Given the description of an element on the screen output the (x, y) to click on. 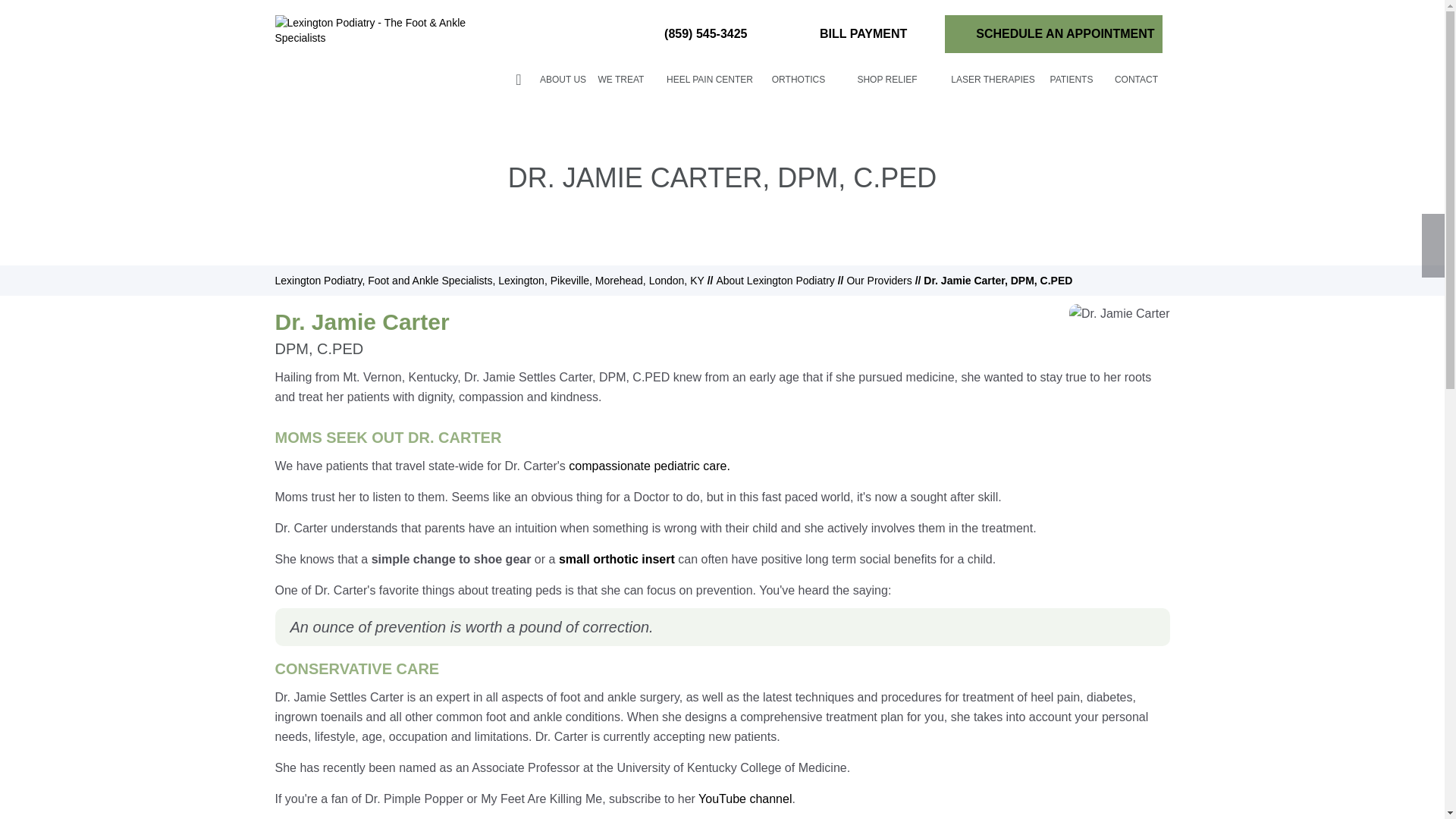
ABOUT US (562, 79)
HOME (518, 79)
BILL PAYMENT (850, 34)
WE TREAT (619, 79)
SCHEDULE AN APPOINTMENT (1053, 34)
